Given the description of an element on the screen output the (x, y) to click on. 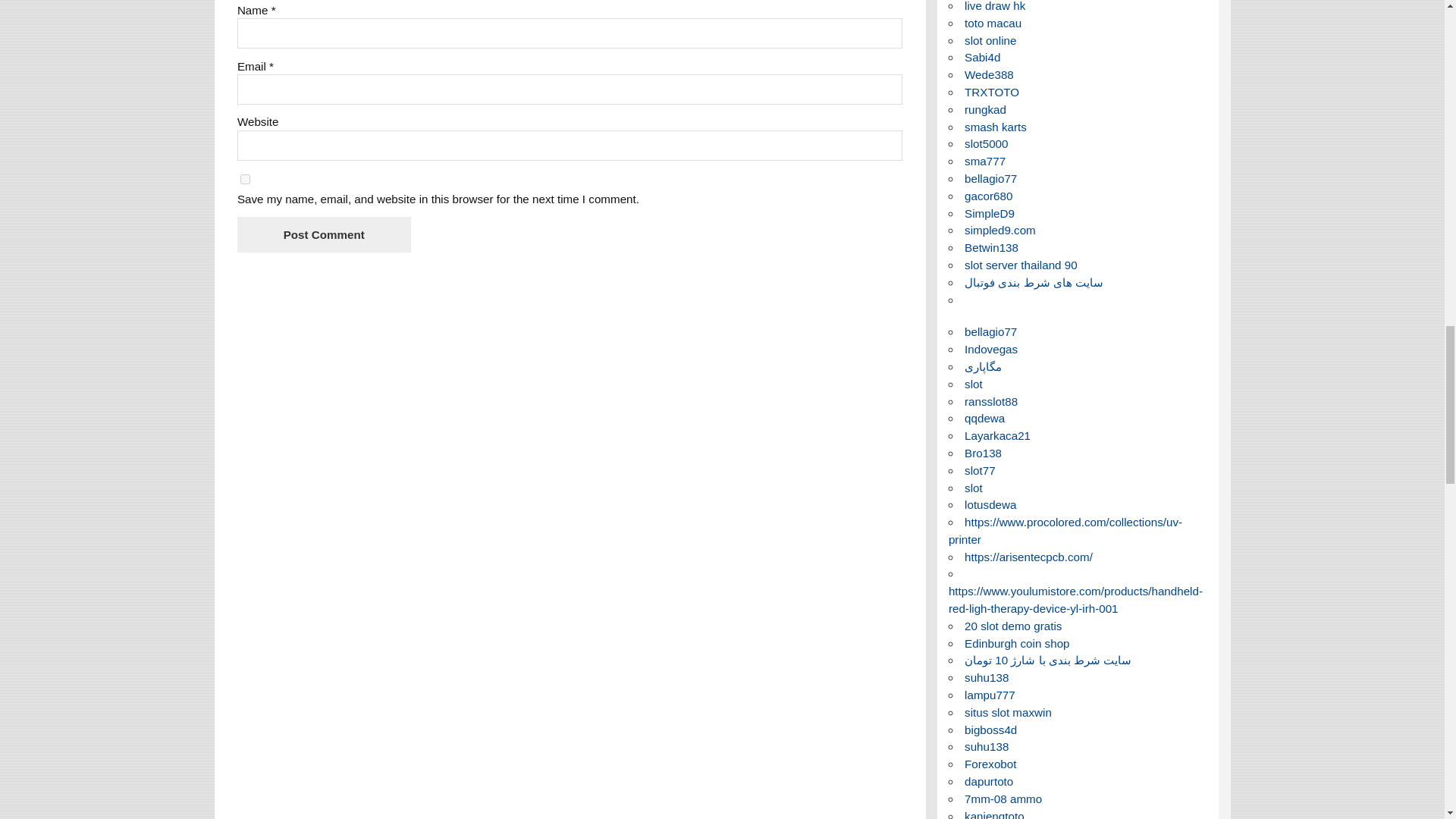
yes (245, 179)
Post Comment (323, 234)
Post Comment (323, 234)
